Given the description of an element on the screen output the (x, y) to click on. 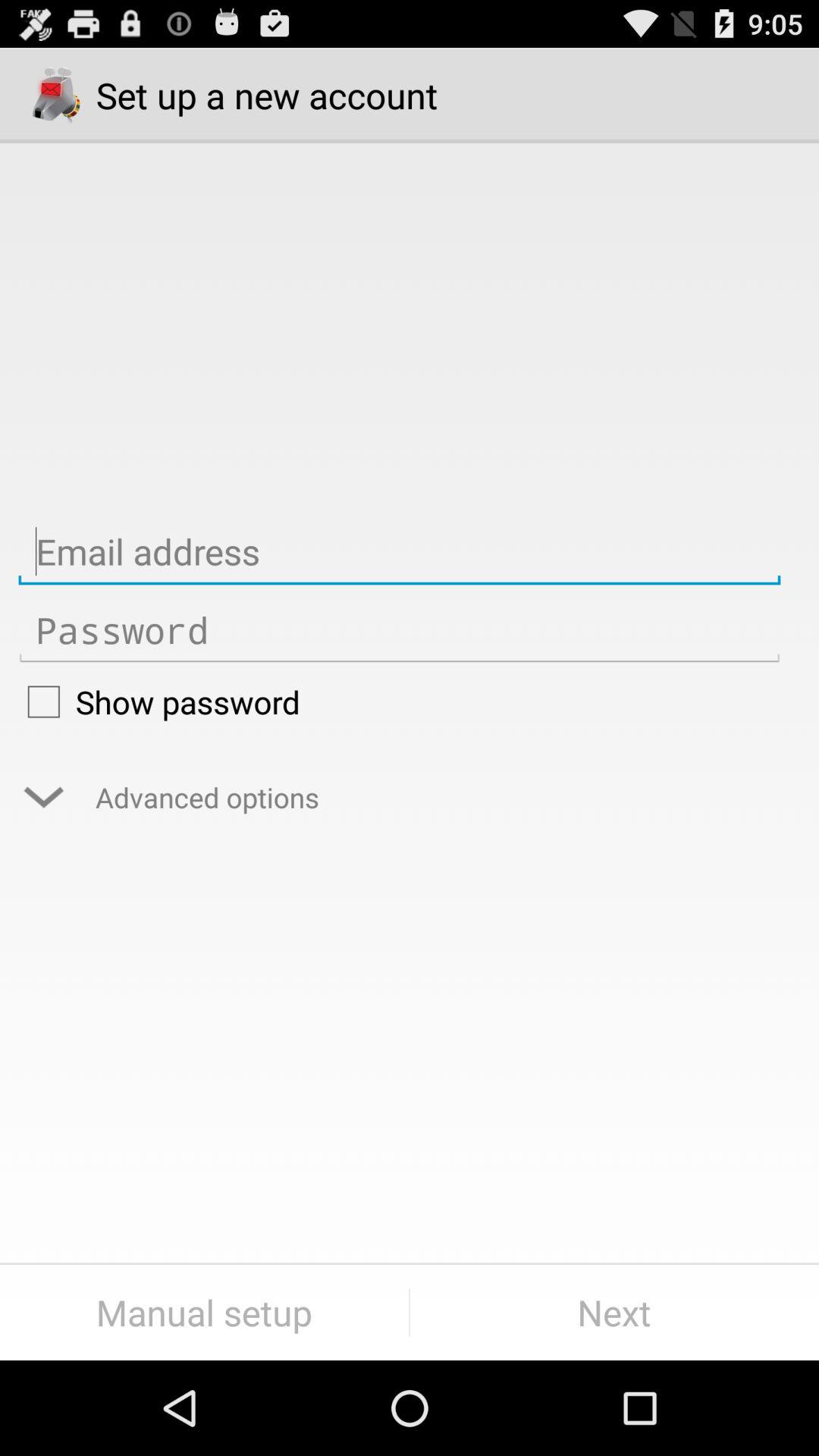
press button at the bottom right corner (614, 1312)
